Given the description of an element on the screen output the (x, y) to click on. 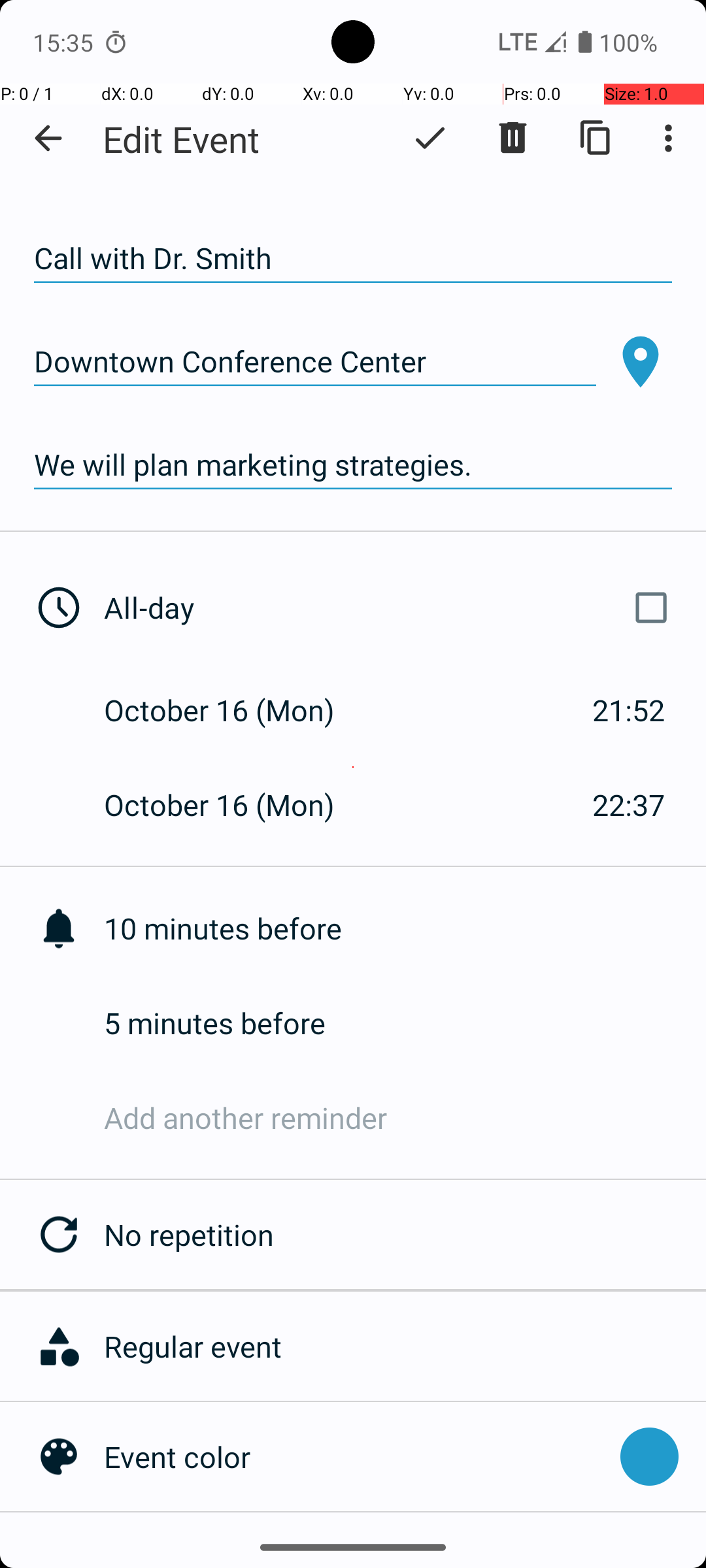
Downtown Conference Center Element type: android.widget.EditText (314, 361)
We will plan marketing strategies. Element type: android.widget.EditText (352, 465)
21:52 Element type: android.widget.TextView (628, 709)
22:37 Element type: android.widget.TextView (628, 804)
5 minutes before Element type: android.widget.TextView (404, 1022)
Add another reminder Element type: android.widget.TextView (404, 1117)
